Given the description of an element on the screen output the (x, y) to click on. 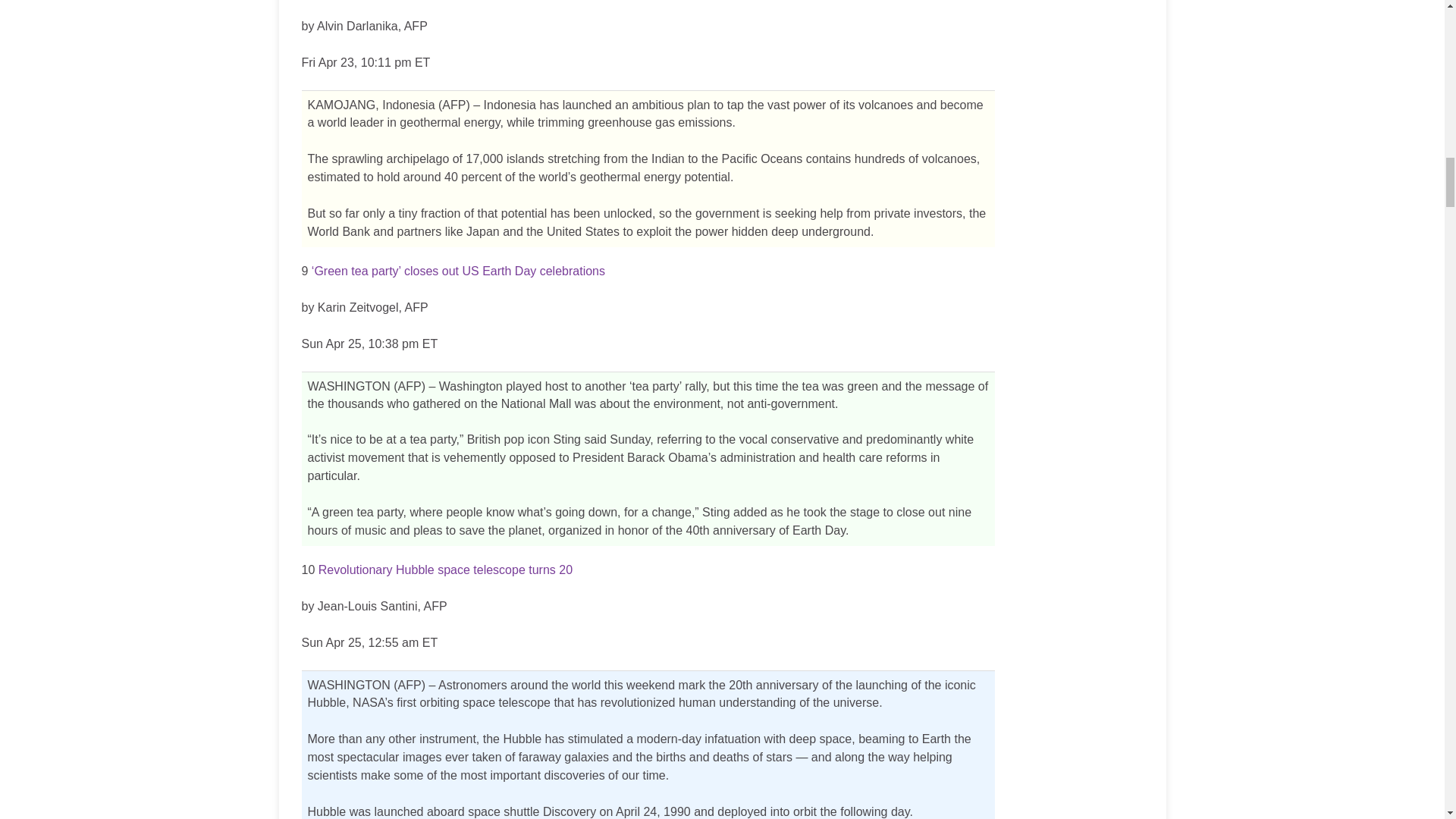
Revolutionary Hubble space telescope turns 20 (445, 569)
